Given the description of an element on the screen output the (x, y) to click on. 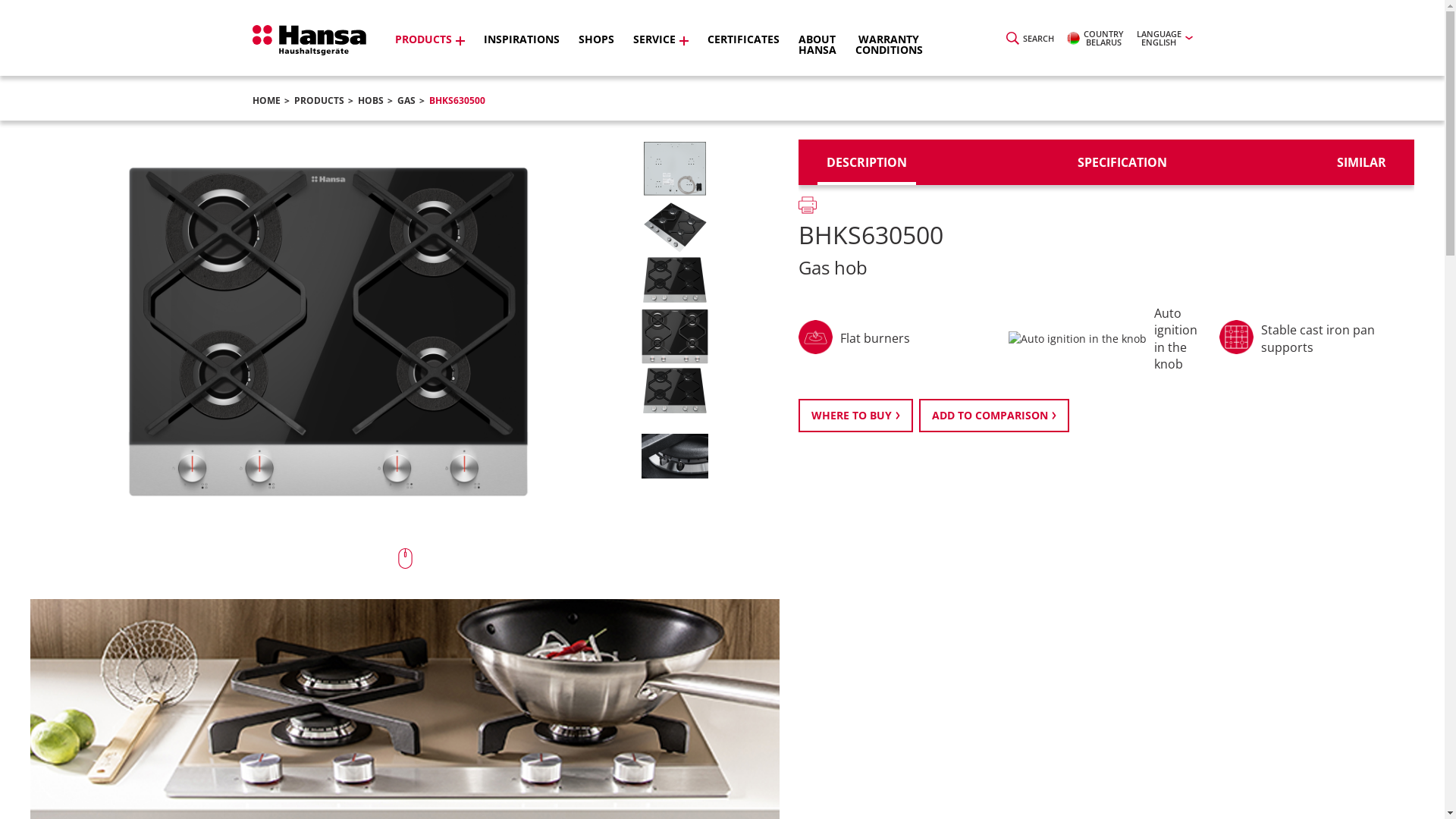
SHOPS Element type: text (595, 54)
PRODUCTS Element type: text (319, 100)
SERVICE Element type: text (659, 54)
CERTIFICATES Element type: text (742, 54)
DESCRIPTION Element type: text (866, 162)
GAS Element type: text (406, 100)
SIMILAR Element type: text (1361, 162)
INSPIRATIONS Element type: text (521, 54)
PRODUCTS Element type: text (429, 54)
WARRANTY CONDITIONS Element type: text (888, 54)
BHKS630500 Element type: text (457, 100)
SPECIFICATION Element type: text (1122, 162)
WHERE TO BUY Element type: text (855, 415)
ADD TO COMPARISON Element type: text (994, 415)
LANGUAGE
ENGLISH Element type: text (1163, 37)
Hansa Element type: text (308, 40)
HOME Element type: text (265, 100)
SEARCH Element type: text (1029, 37)
ABOUT HANSA Element type: text (816, 54)
COUNTRY
BELARUS Element type: text (1094, 37)
HOBS Element type: text (370, 100)
